Given the description of an element on the screen output the (x, y) to click on. 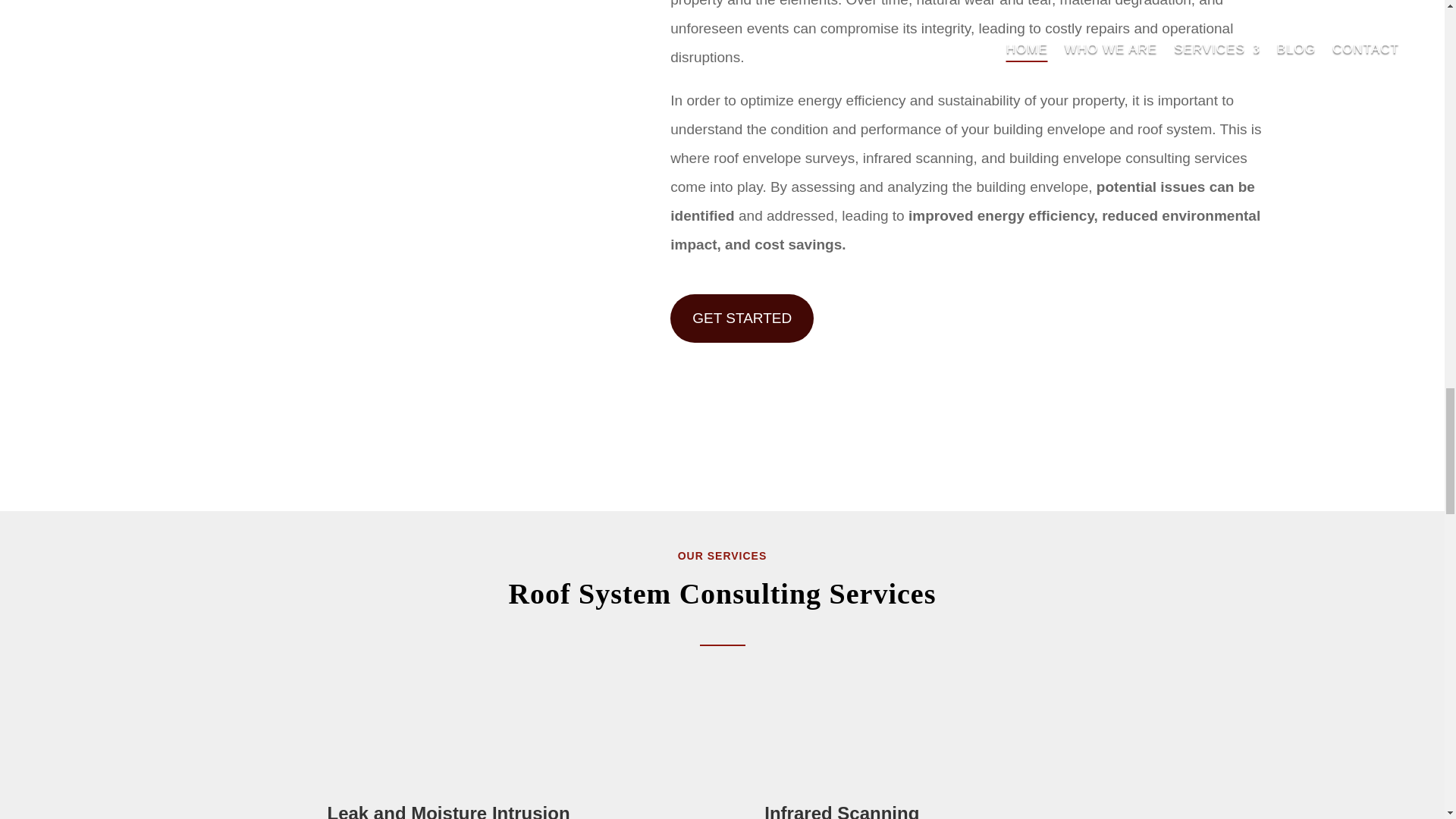
GET STARTED (741, 318)
